Given the description of an element on the screen output the (x, y) to click on. 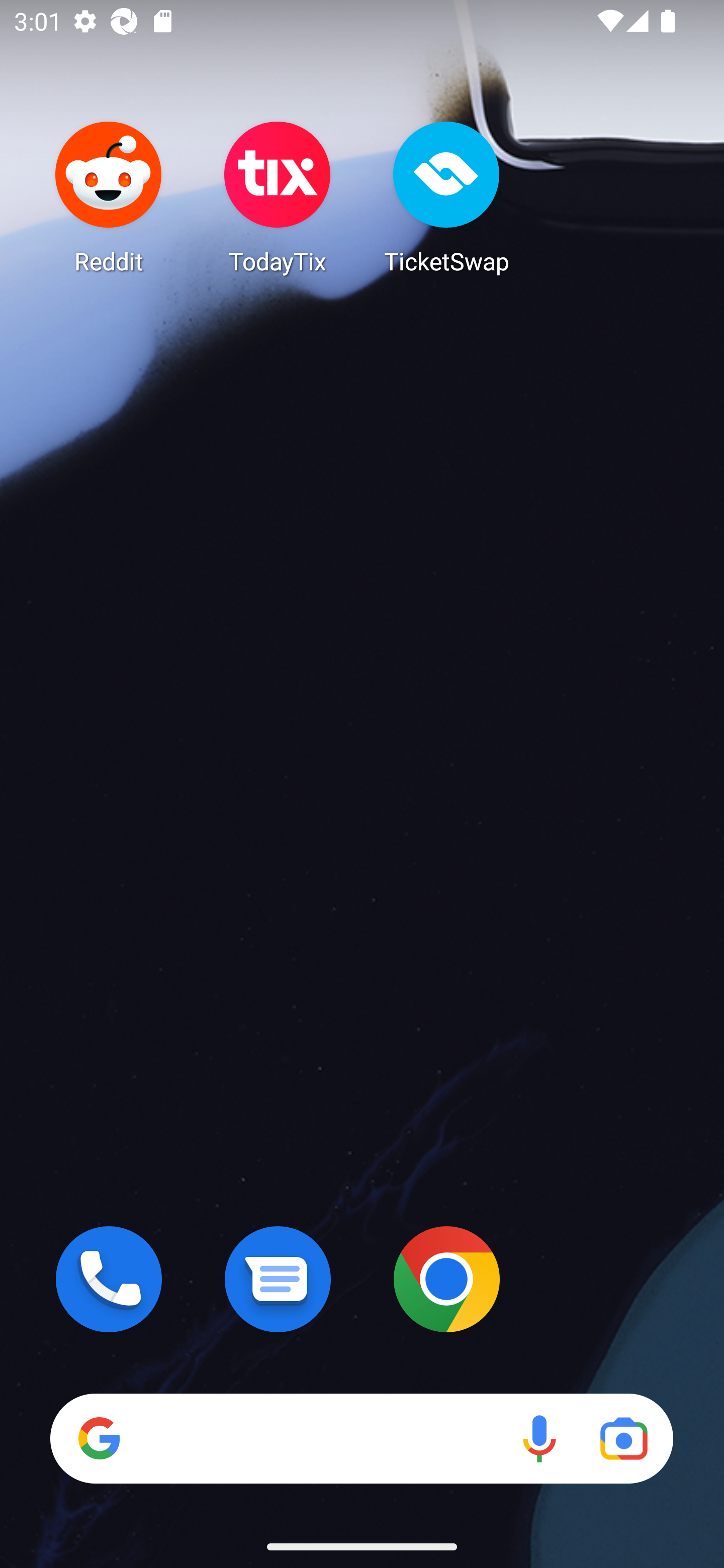
Reddit (108, 196)
TodayTix (277, 196)
TicketSwap (445, 196)
Phone (108, 1279)
Messages (277, 1279)
Chrome (446, 1279)
Voice search (539, 1438)
Google Lens (623, 1438)
